Given the description of an element on the screen output the (x, y) to click on. 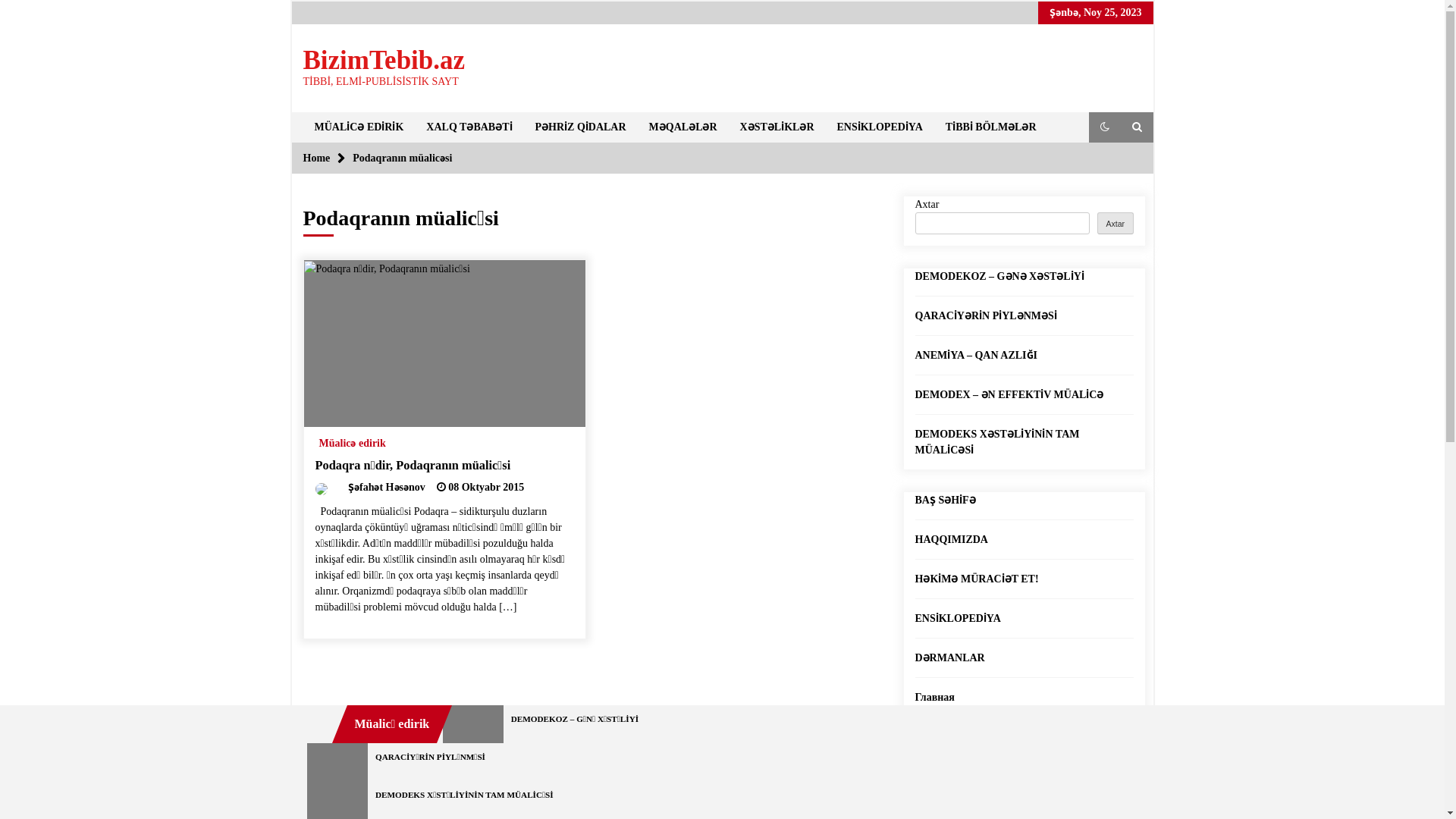
HAQQIMIZDA Element type: text (950, 539)
Axtar Element type: text (1115, 223)
Home Element type: text (316, 157)
BizimTebib.az Element type: text (384, 60)
